Given the description of an element on the screen output the (x, y) to click on. 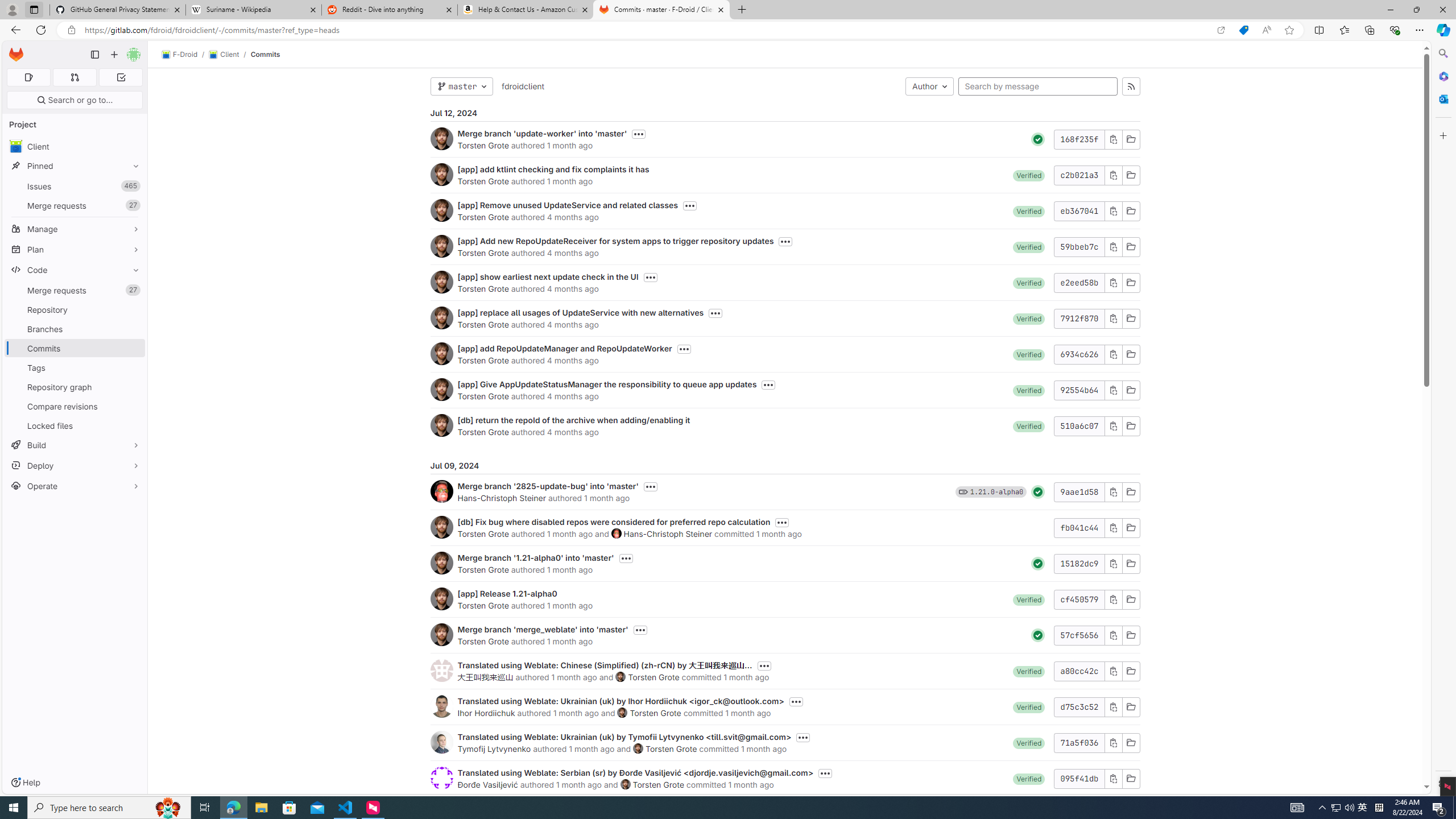
Hans-Christoph Steiner (667, 533)
1.21.0-alpha0 (996, 491)
Torsten Grote (657, 784)
Commits feed (1130, 85)
Repository (74, 309)
Plan (74, 248)
Restore (1416, 9)
Branches (74, 328)
Repository graph (74, 386)
Pipeline: passed (1037, 635)
Shopping in Microsoft Edge (1243, 29)
